Given the description of an element on the screen output the (x, y) to click on. 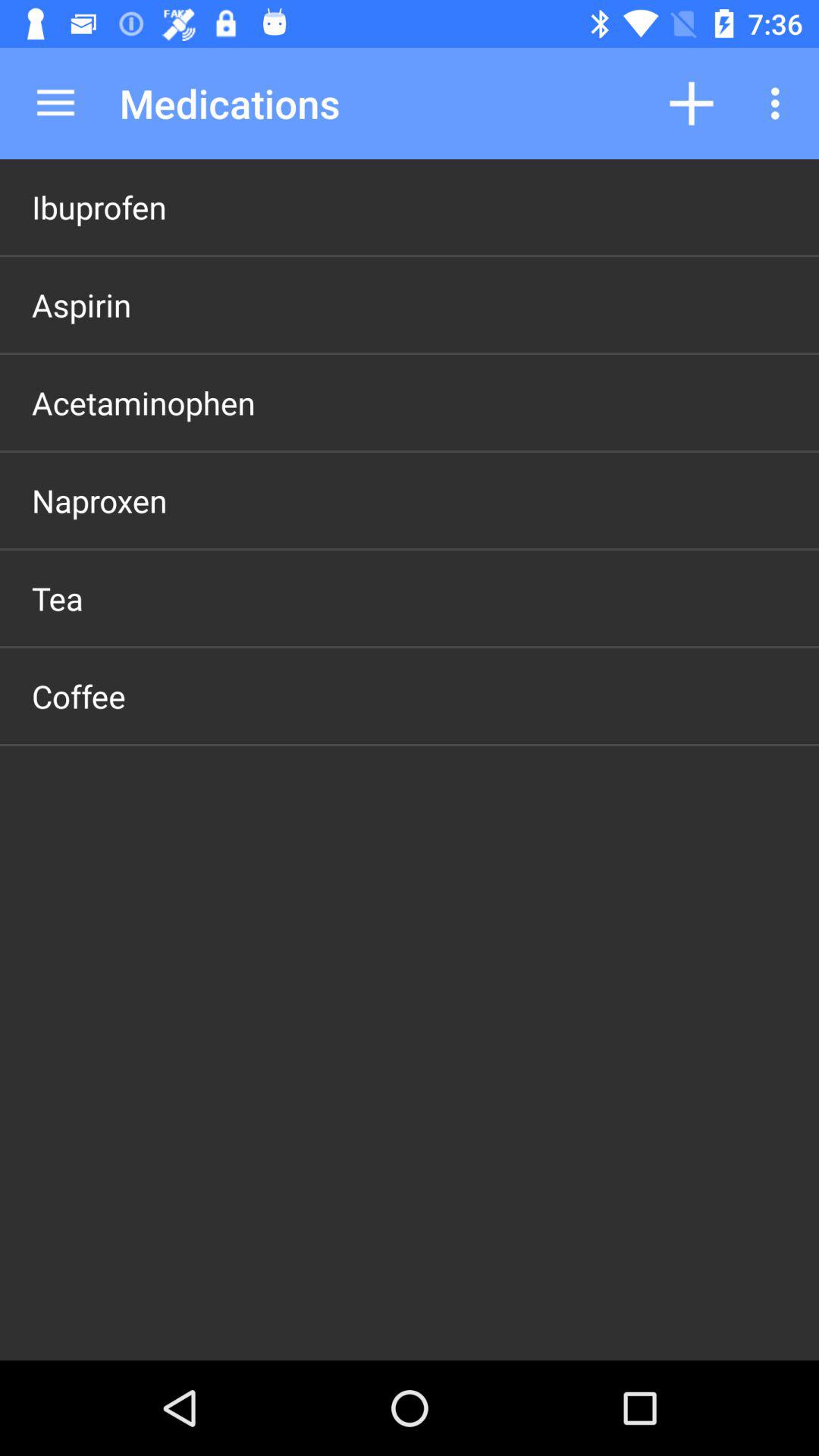
tap app next to medications item (691, 103)
